Given the description of an element on the screen output the (x, y) to click on. 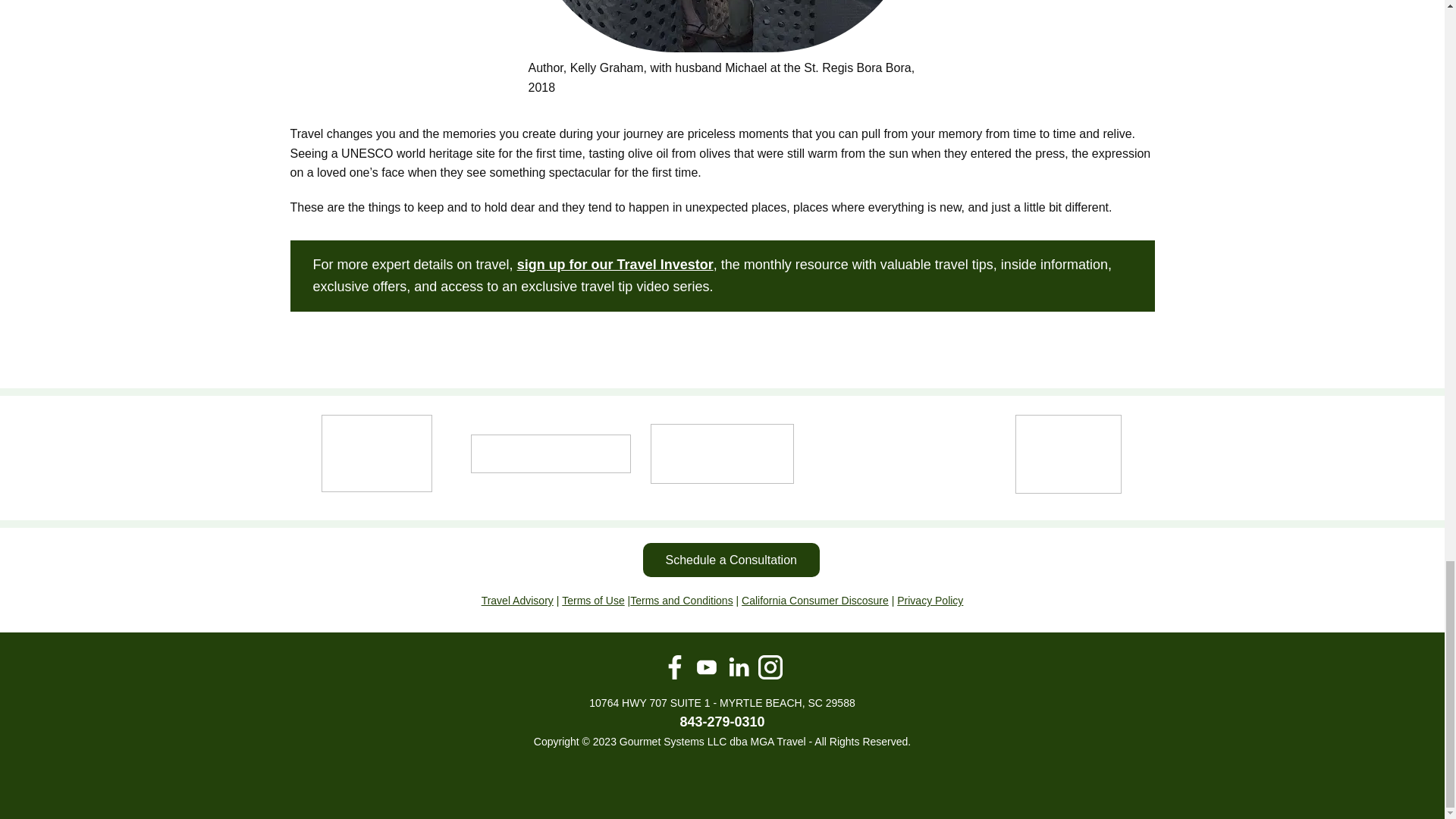
Facebook (674, 667)
Instagram (770, 667)
